Given the description of an element on the screen output the (x, y) to click on. 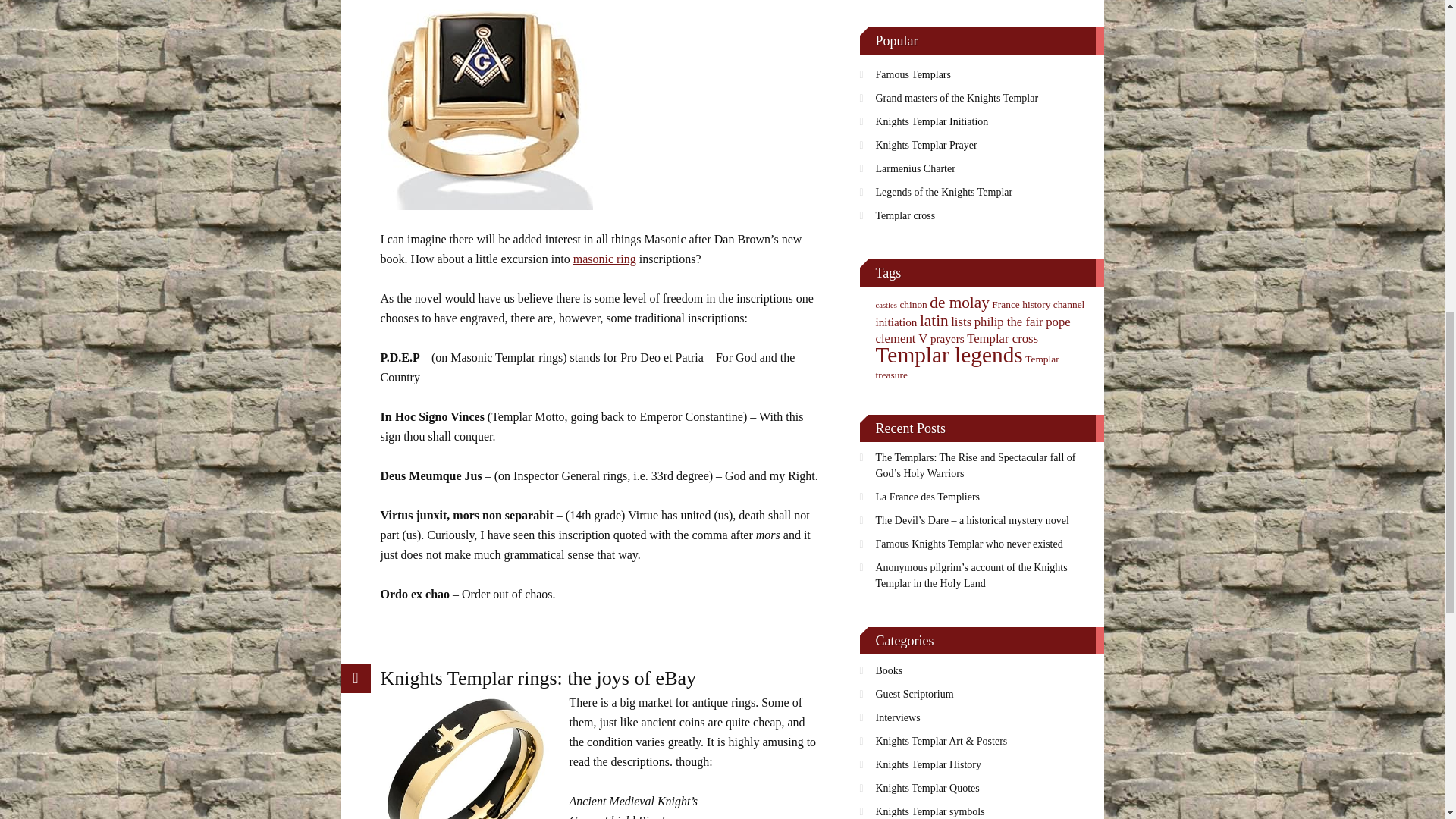
Knights Templar rings: the joys of eBay (538, 678)
Larmenius Charter (981, 168)
Legends of the Knights Templar (981, 191)
Famous Templars (981, 74)
Grand masters of the Knights Templar (981, 97)
Guest posts and articles from select authors.  (981, 693)
masonic ring (604, 258)
Templar cross (981, 215)
de molay (960, 302)
Knights Templar Initiation (981, 121)
Knights Templar Prayer (981, 145)
chinon (912, 304)
castles (885, 305)
France (1005, 304)
